Given the description of an element on the screen output the (x, y) to click on. 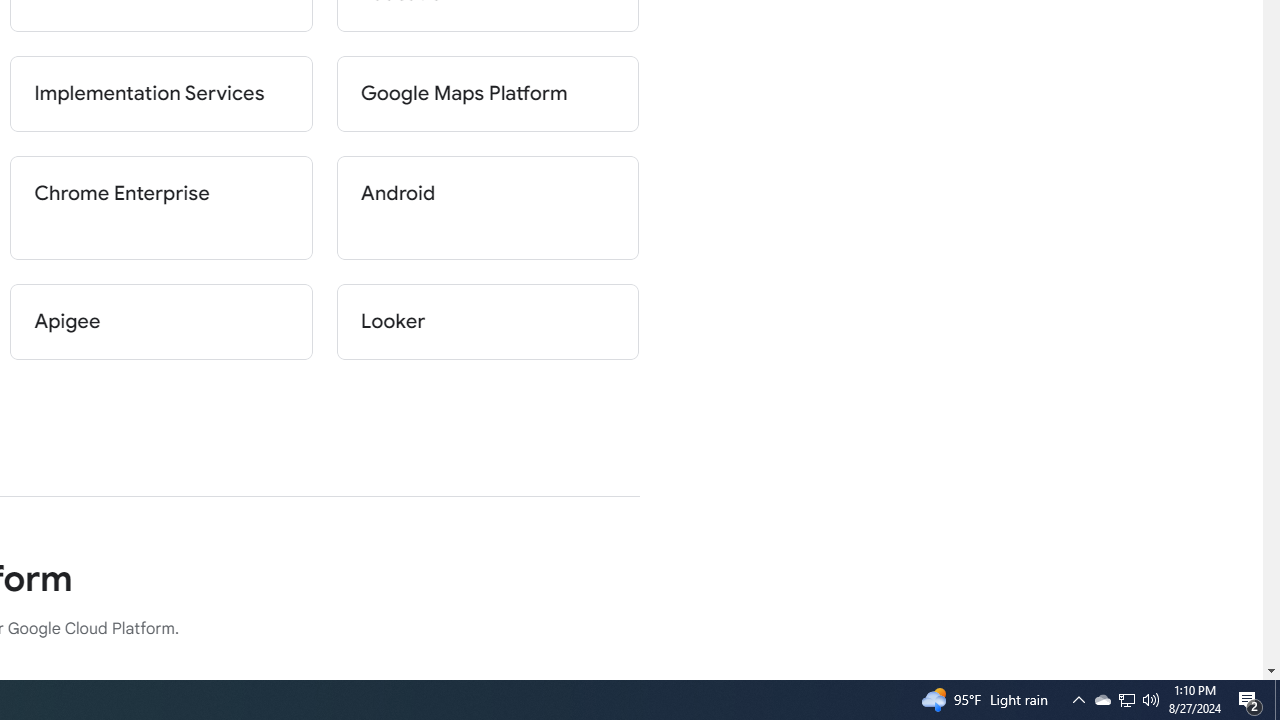
Implementation Services (161, 93)
Google Maps Platform (487, 93)
Chrome Enterprise (161, 207)
Looker (487, 321)
Android (487, 207)
Apigee (161, 321)
